Given the description of an element on the screen output the (x, y) to click on. 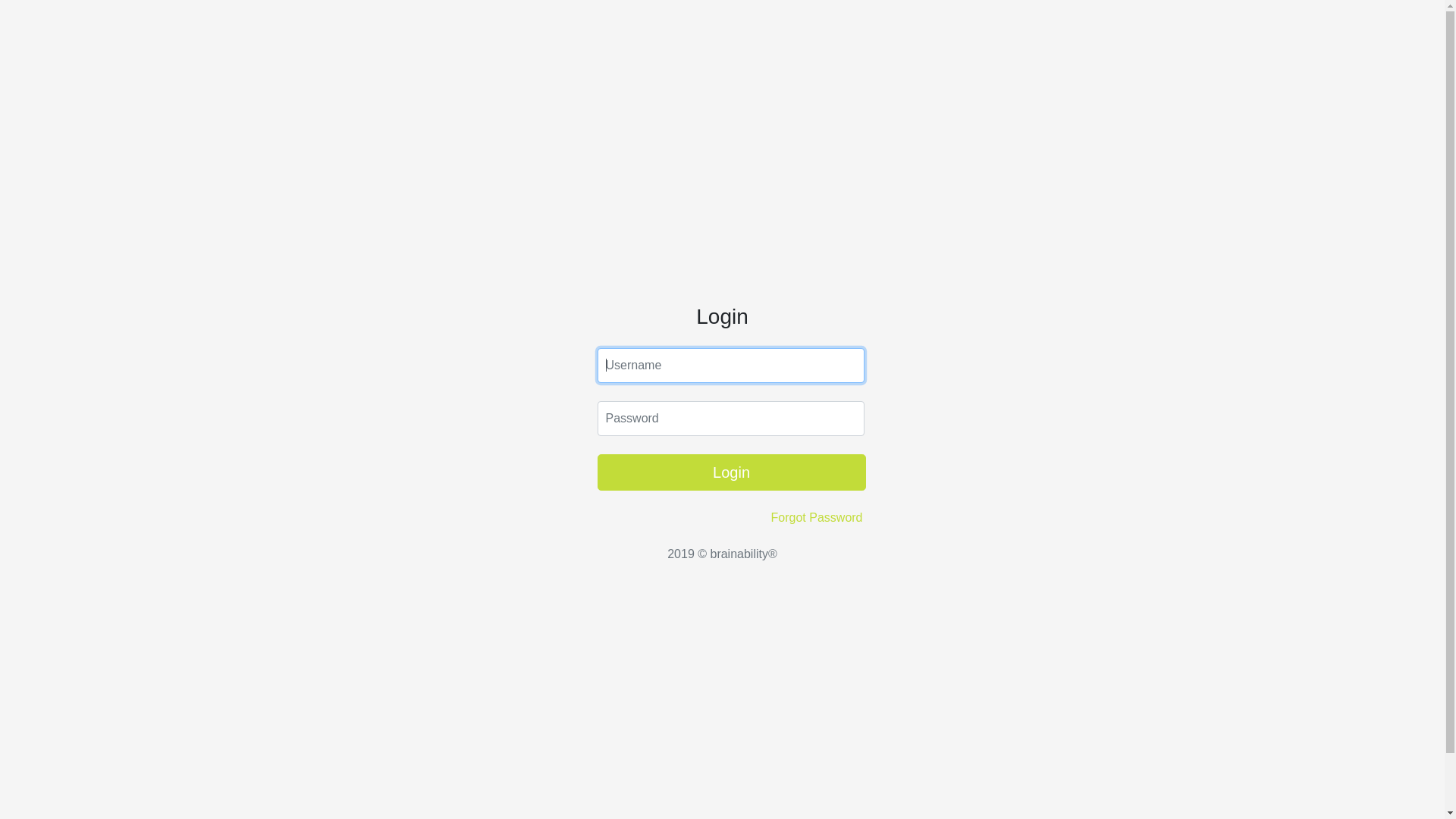
Forgot Password Element type: text (816, 517)
Login Element type: text (731, 472)
